Given the description of an element on the screen output the (x, y) to click on. 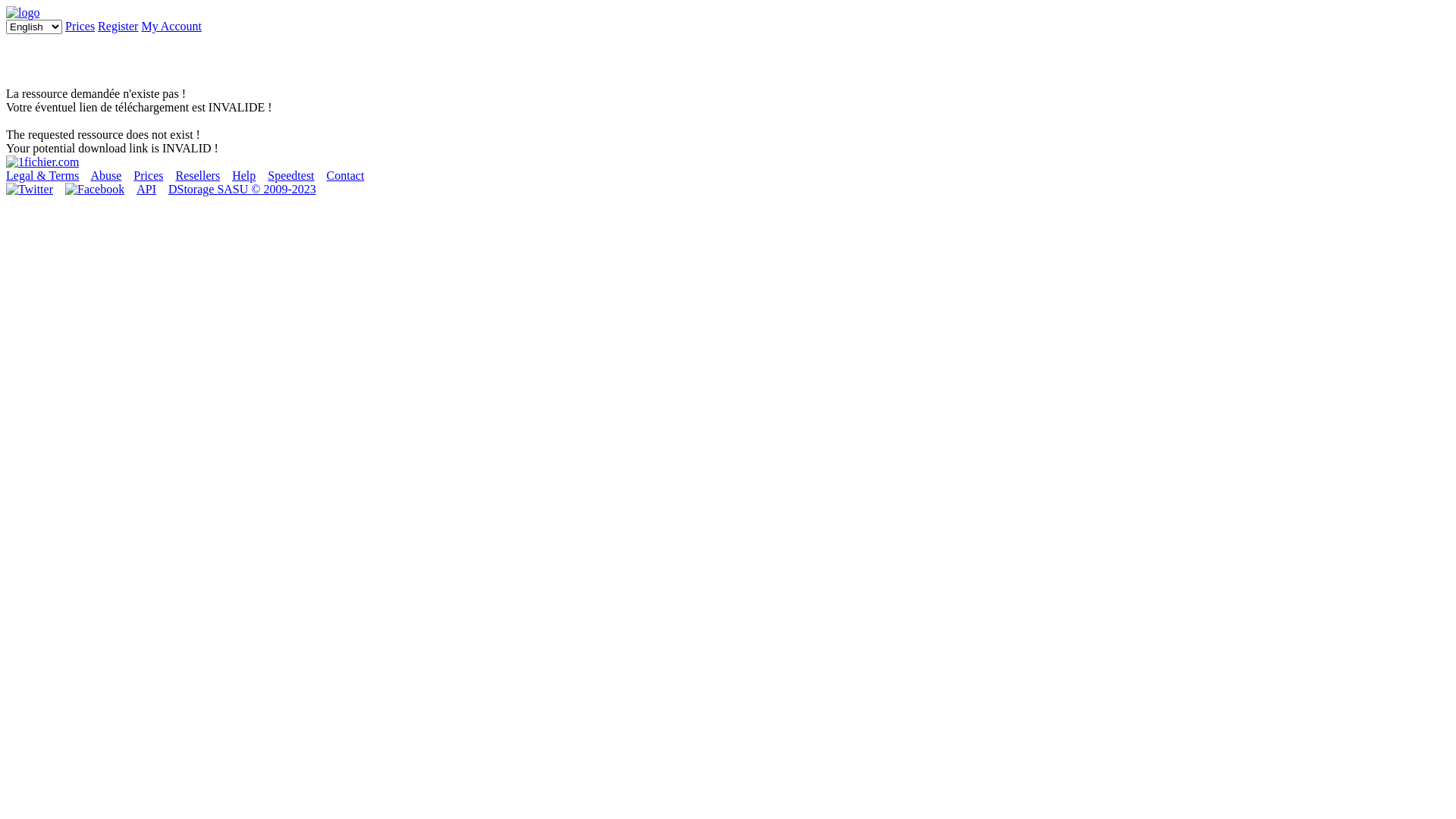
Back to home page Element type: hover (42, 161)
Help Element type: text (243, 175)
1fichier.com Element type: hover (22, 12)
Prices Element type: text (79, 25)
My Account Element type: text (171, 25)
API Element type: text (146, 188)
Contact Element type: text (345, 175)
Register Element type: text (117, 25)
Abuse Element type: text (105, 175)
Legal & Terms Element type: text (42, 175)
Prices Element type: text (148, 175)
Resellers Element type: text (197, 175)
Speedtest Element type: text (290, 175)
